Given the description of an element on the screen output the (x, y) to click on. 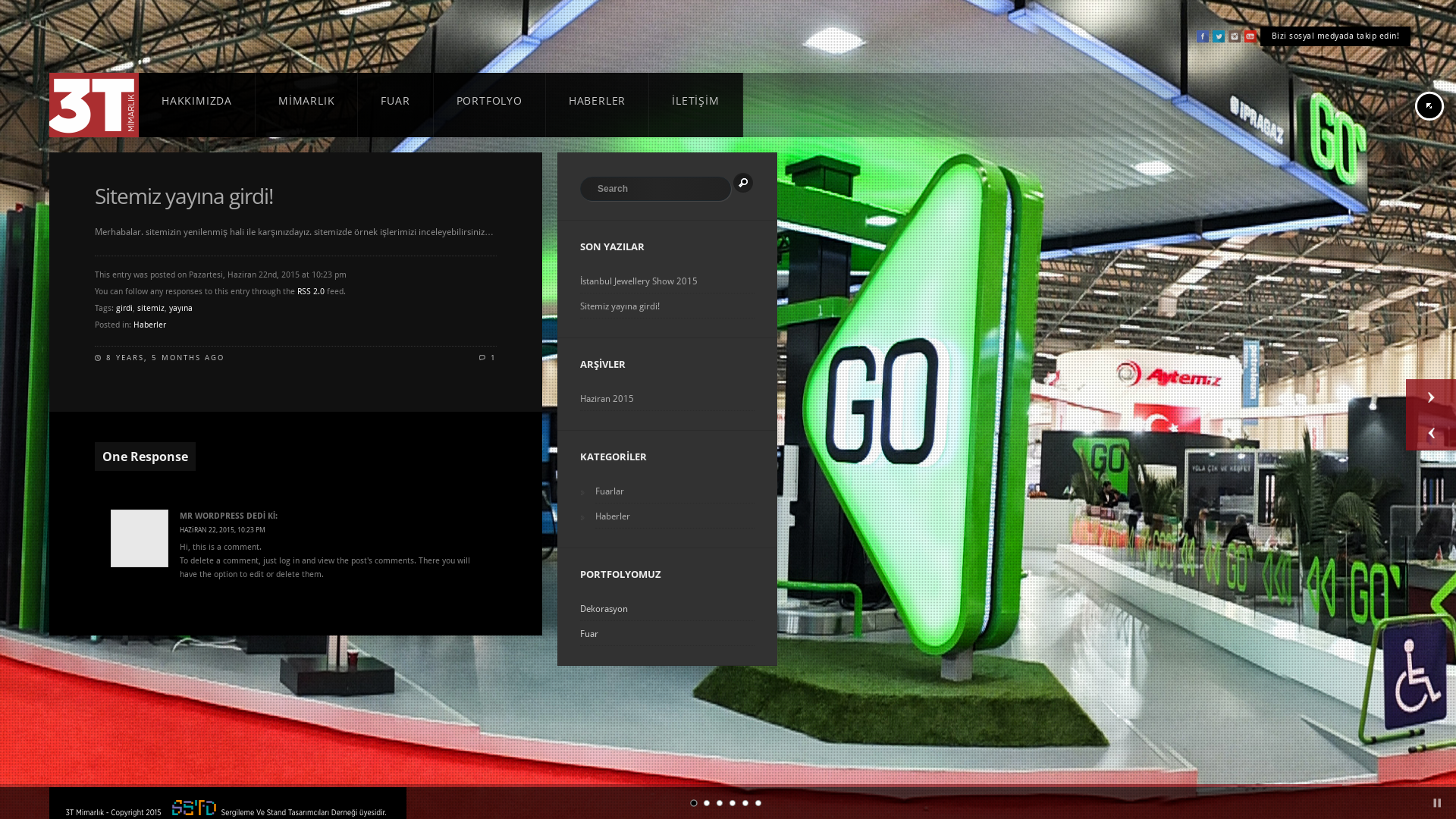
HAKKIMIZDA Element type: text (196, 104)
8 YEARS, 5 MONTHS AGO Element type: text (165, 357)
1 Element type: text (487, 357)
Dekorasyon Element type: text (667, 608)
Search Element type: hover (743, 182)
girdi Element type: text (124, 308)
PORTFOLYO Element type: text (489, 104)
HABERLER Element type: text (597, 104)
Fuar Element type: text (667, 633)
MIMARLIK Element type: text (306, 104)
HAZIRAN 22, 2015, 10:23 PM Element type: text (222, 529)
Fuarlar Element type: text (674, 490)
Haberler Element type: text (149, 324)
sitemiz Element type: text (150, 308)
FUAR Element type: text (395, 104)
Haziran 2015 Element type: text (667, 398)
MR WORDPRESS Element type: text (211, 515)
RSS 2.0 Element type: text (310, 291)
Haberler Element type: text (674, 515)
